Given the description of an element on the screen output the (x, y) to click on. 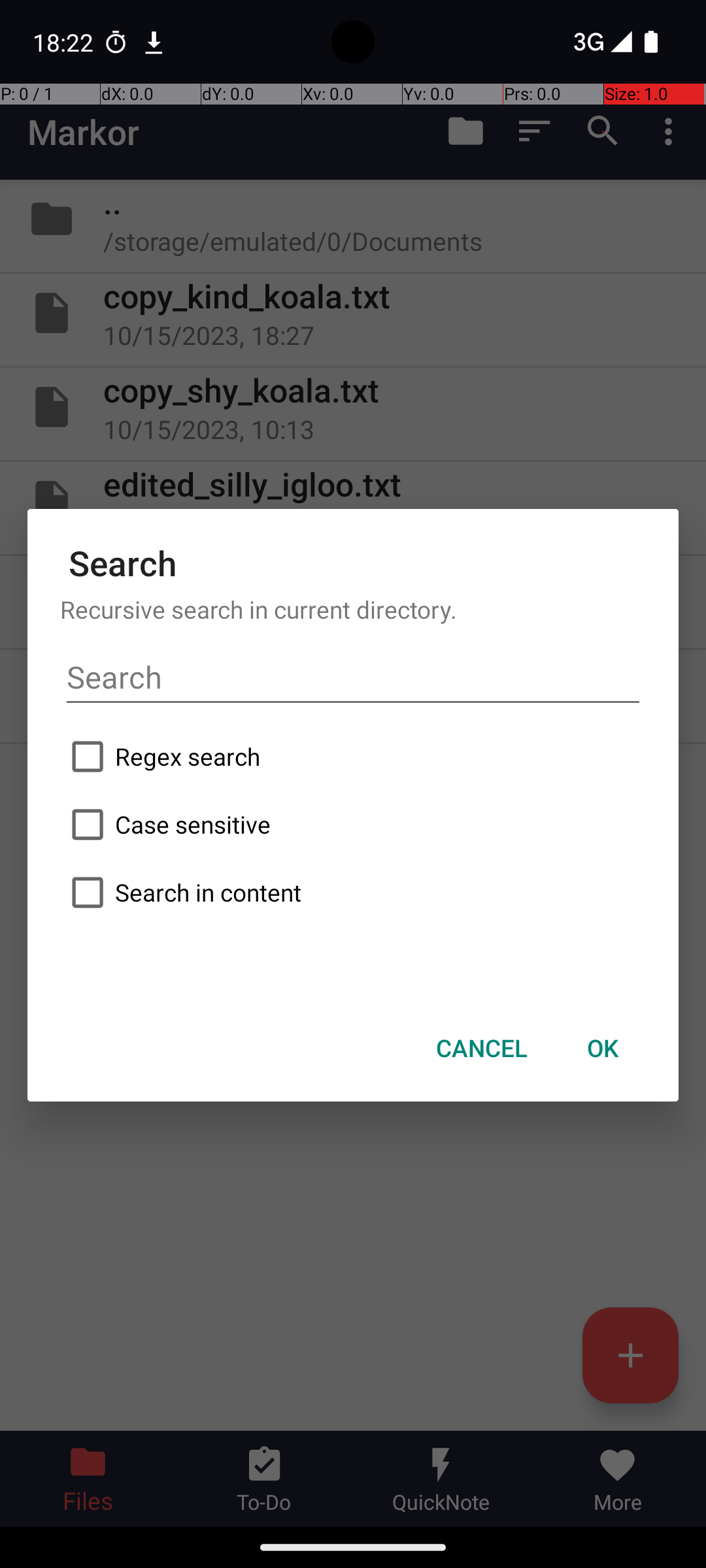
18:22 Element type: android.widget.TextView (64, 41)
